Given the description of an element on the screen output the (x, y) to click on. 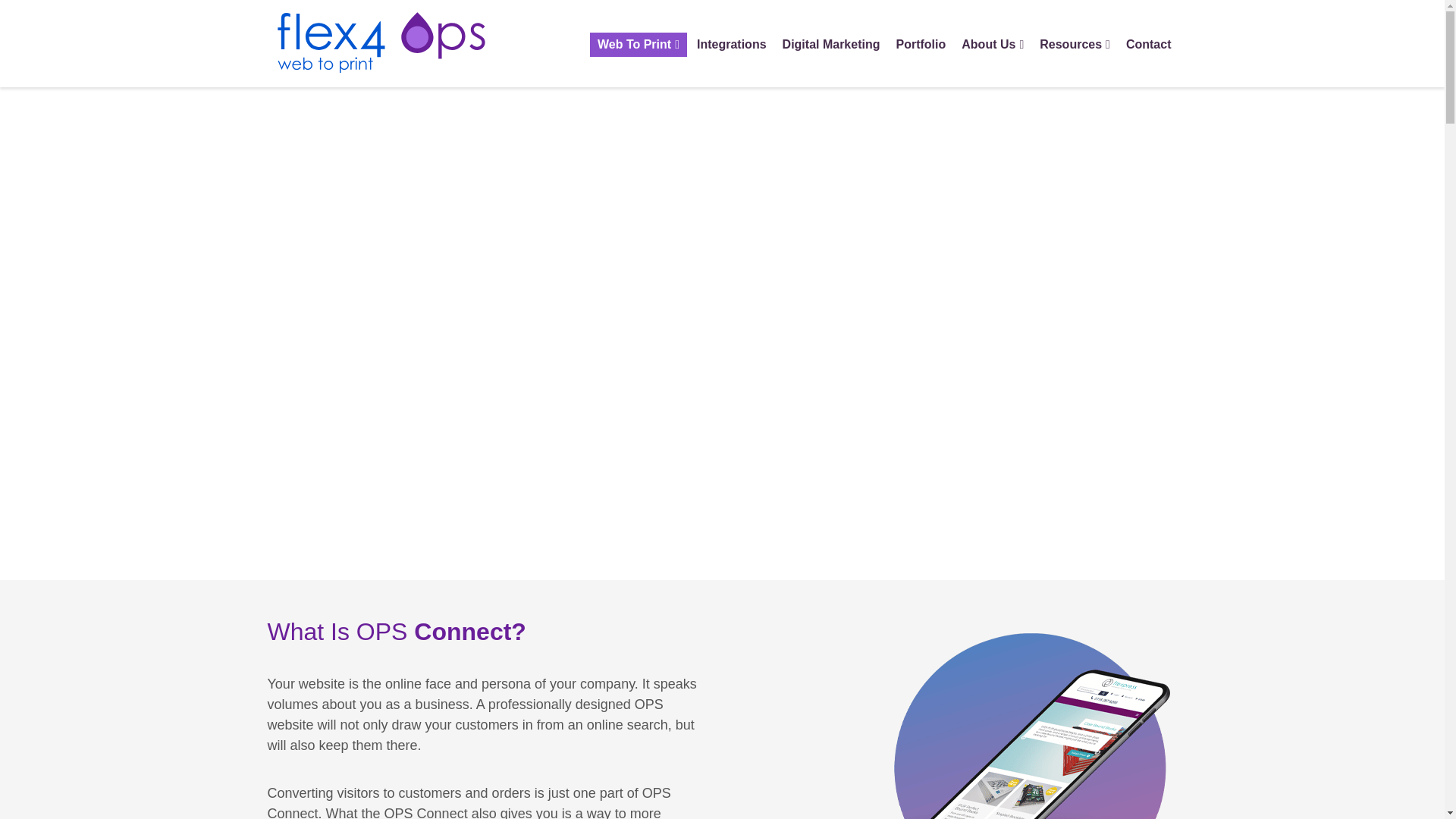
Resources (1074, 43)
Web To Print (638, 44)
Contact (1148, 43)
About Us (992, 43)
Integrations (731, 43)
Digital Marketing (831, 43)
Portfolio (920, 43)
